Given the description of an element on the screen output the (x, y) to click on. 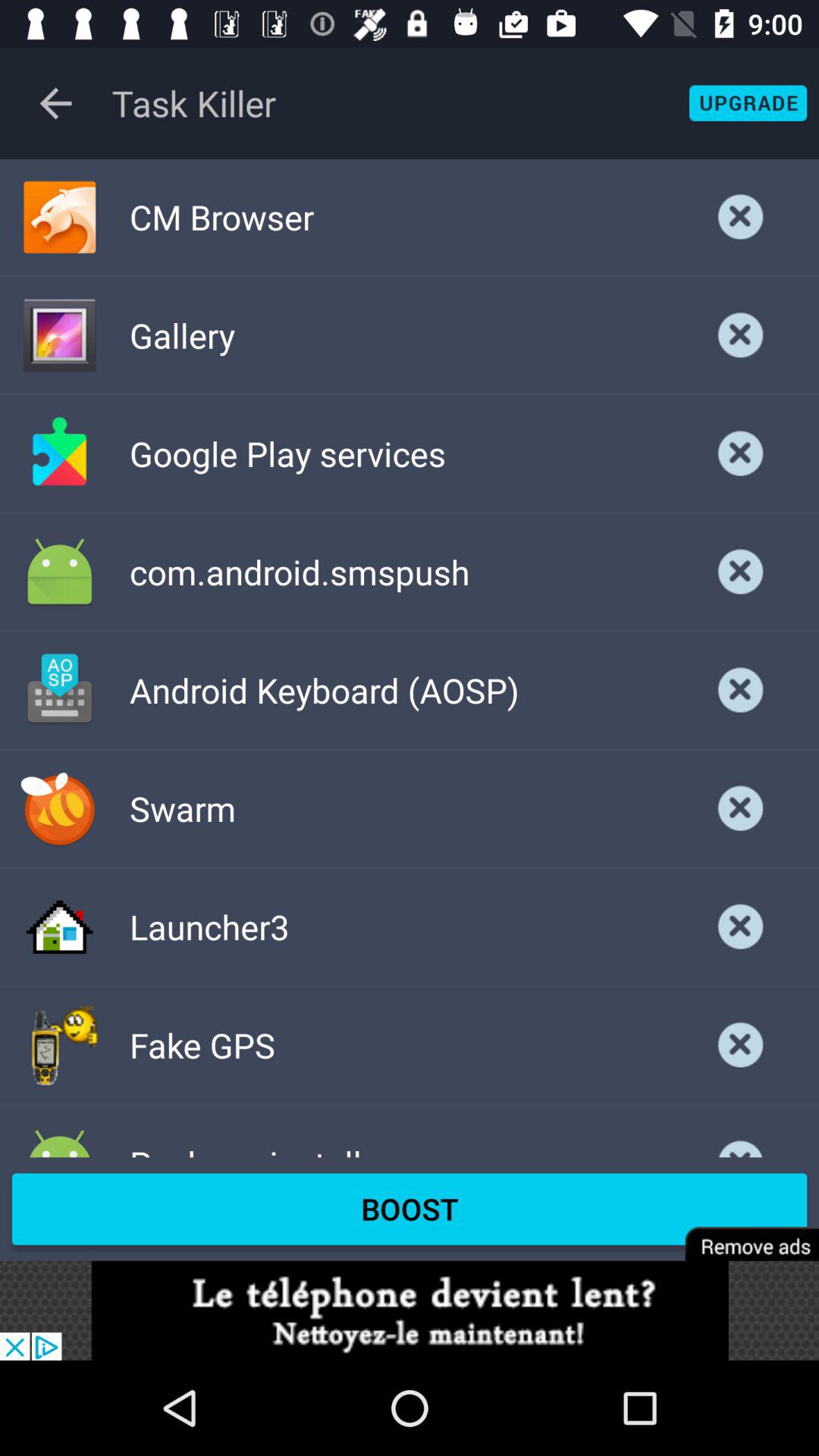
close task (740, 217)
